Given the description of an element on the screen output the (x, y) to click on. 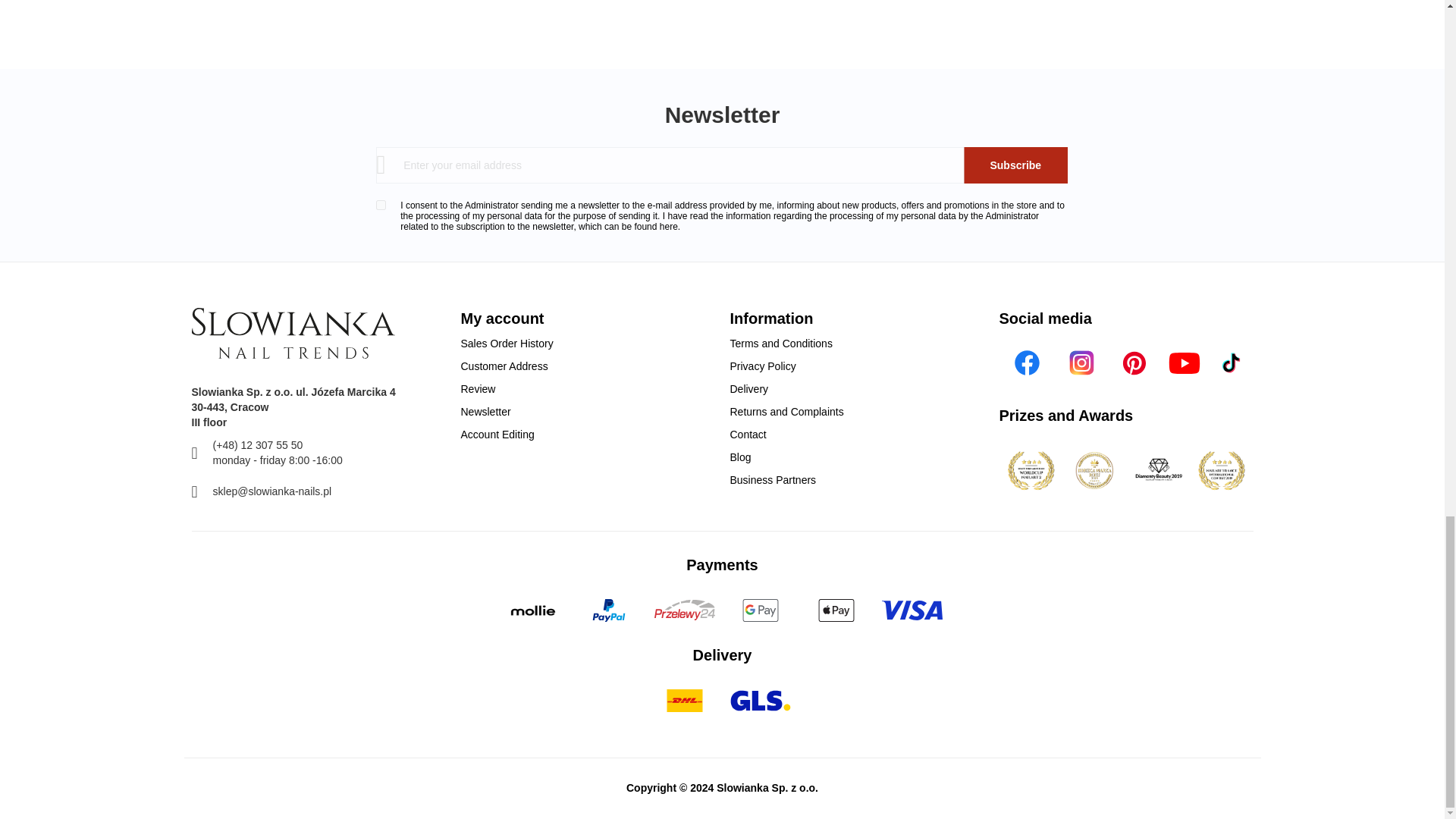
1 (380, 204)
